Given the description of an element on the screen output the (x, y) to click on. 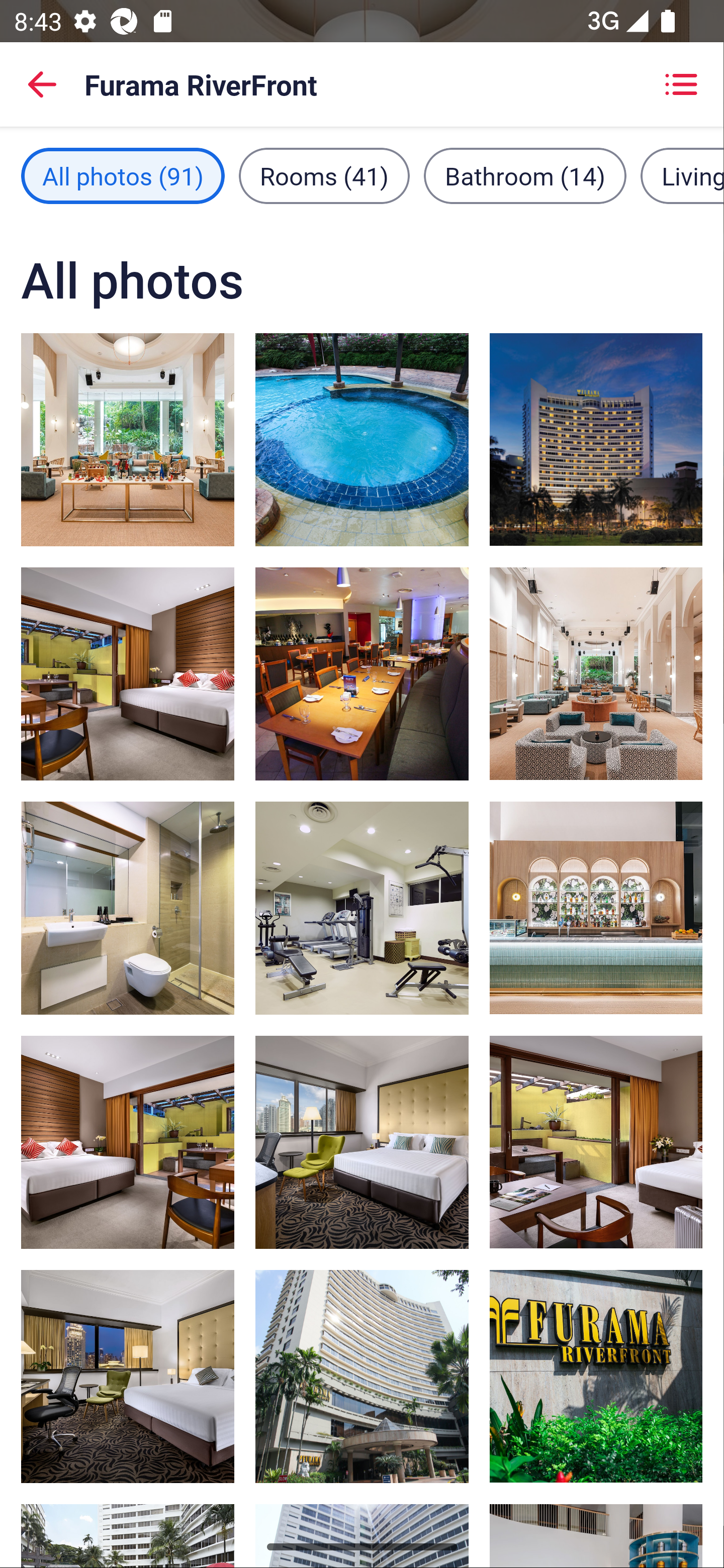
Back (42, 84)
Showing grid view (681, 84)
All photos filter, 91 images (122, 175)
Rooms filter, 41 images (323, 175)
Bathroom filter, 14 images (524, 175)
Living area filter, 3 images (681, 175)
Lobby lounge, image (127, 438)
Spa, image (361, 438)
Front of property - evening/night, image (595, 438)
Lunch and dinner served, image (361, 673)
Lobby lounge, image (595, 673)
Gym, image (361, 907)
Lobby lounge, image (595, 907)
Front of property, image (361, 1376)
Exterior detail, image (595, 1376)
